Given the description of an element on the screen output the (x, y) to click on. 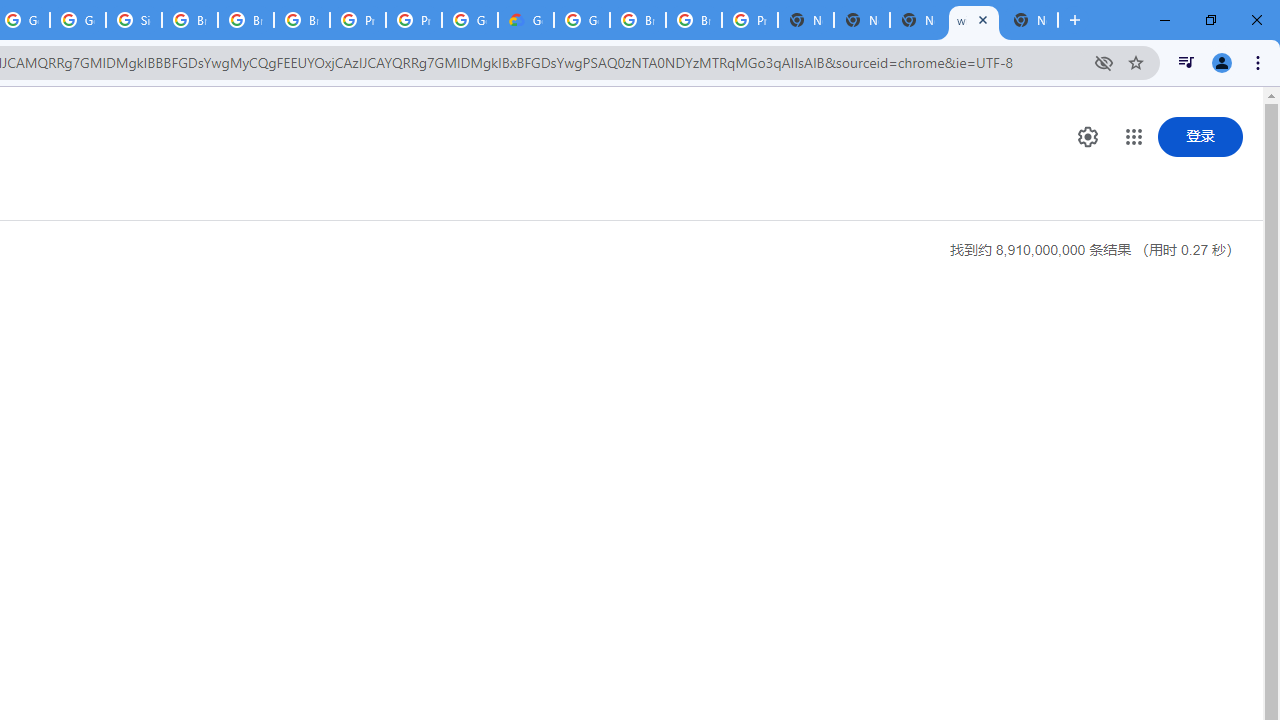
Browse Chrome as a guest - Computer - Google Chrome Help (245, 20)
Google Cloud Estimate Summary (525, 20)
Sign in - Google Accounts (134, 20)
Browse Chrome as a guest - Computer - Google Chrome Help (693, 20)
Google Cloud Platform (582, 20)
Google Cloud Platform (469, 20)
